Given the description of an element on the screen output the (x, y) to click on. 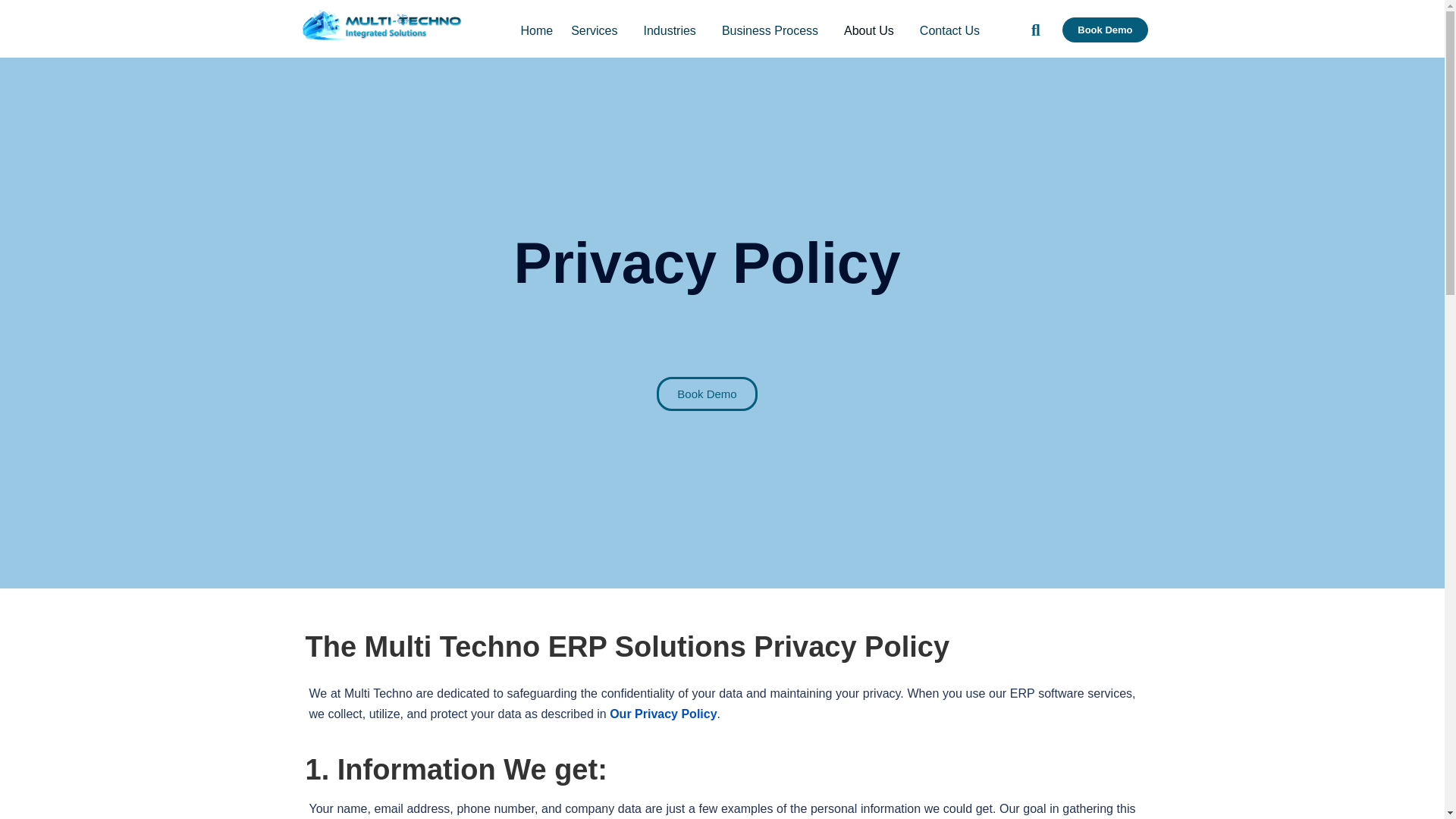
Book Demo (1104, 29)
Home (536, 30)
Services (597, 30)
Industries (672, 30)
search-button (1035, 30)
Business Process (773, 30)
Contact Us (949, 30)
About Us (872, 30)
